Given the description of an element on the screen output the (x, y) to click on. 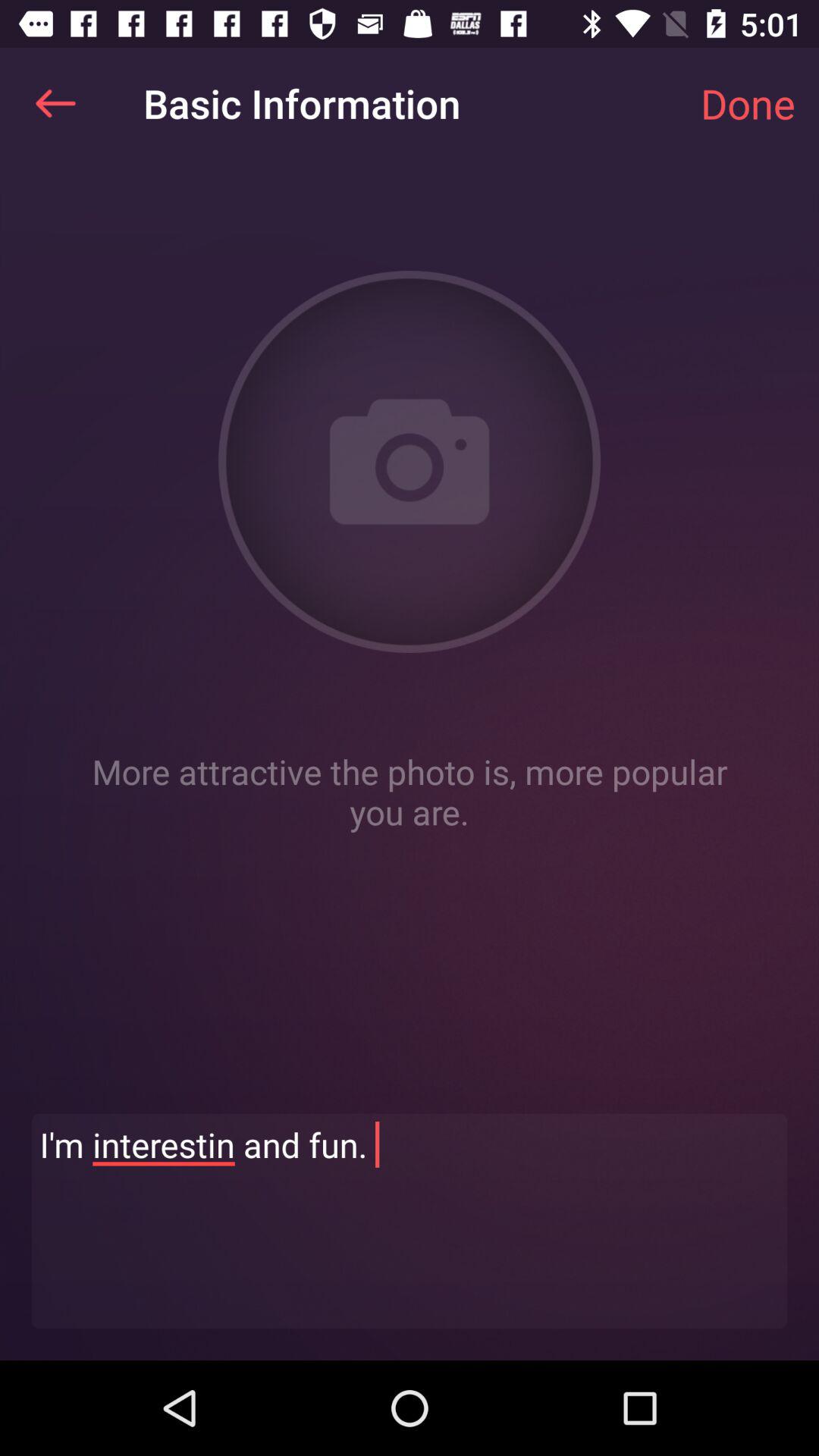
add profile picture (409, 461)
